Given the description of an element on the screen output the (x, y) to click on. 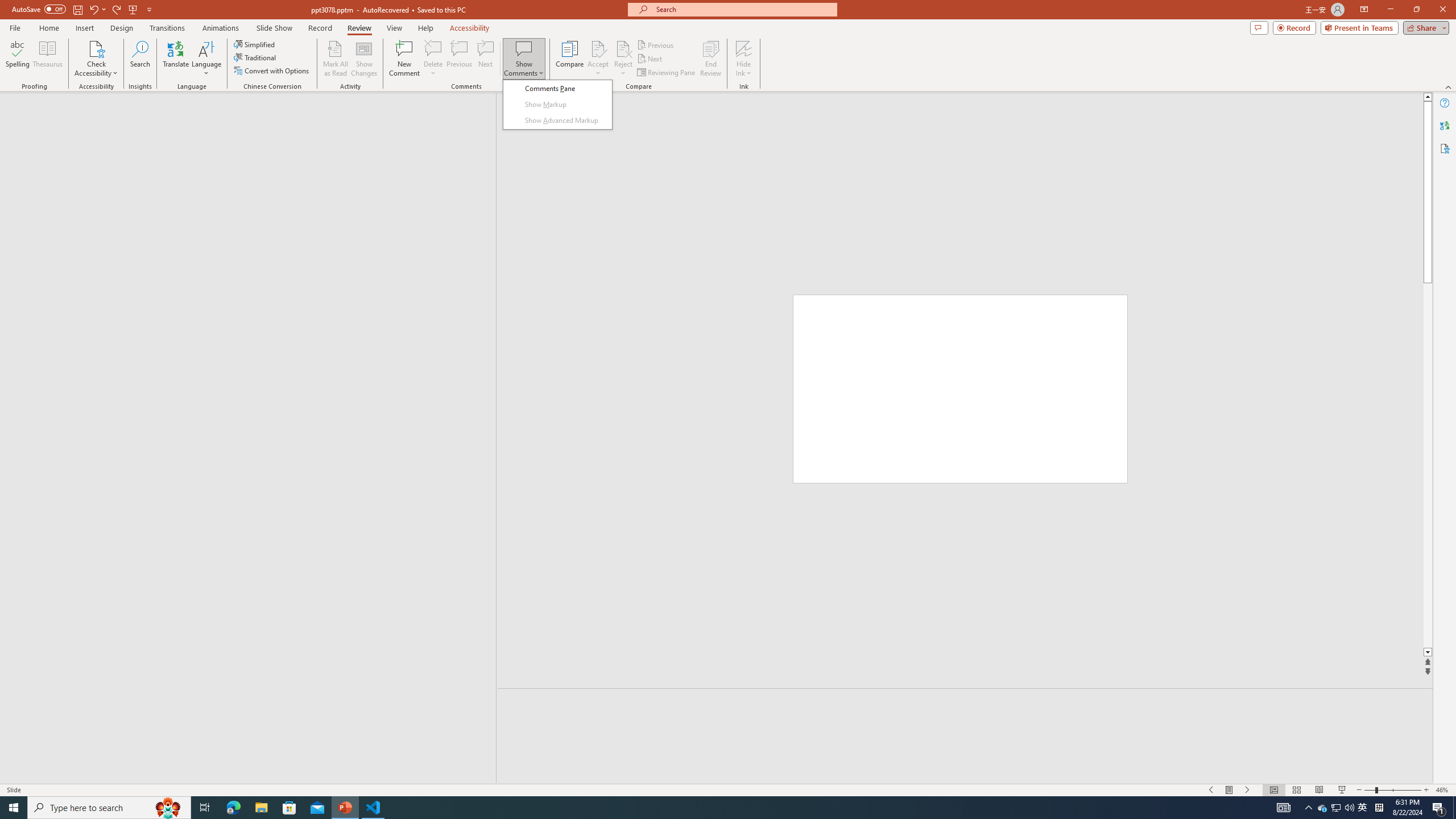
Simplified (254, 44)
End Review (710, 58)
